Given the description of an element on the screen output the (x, y) to click on. 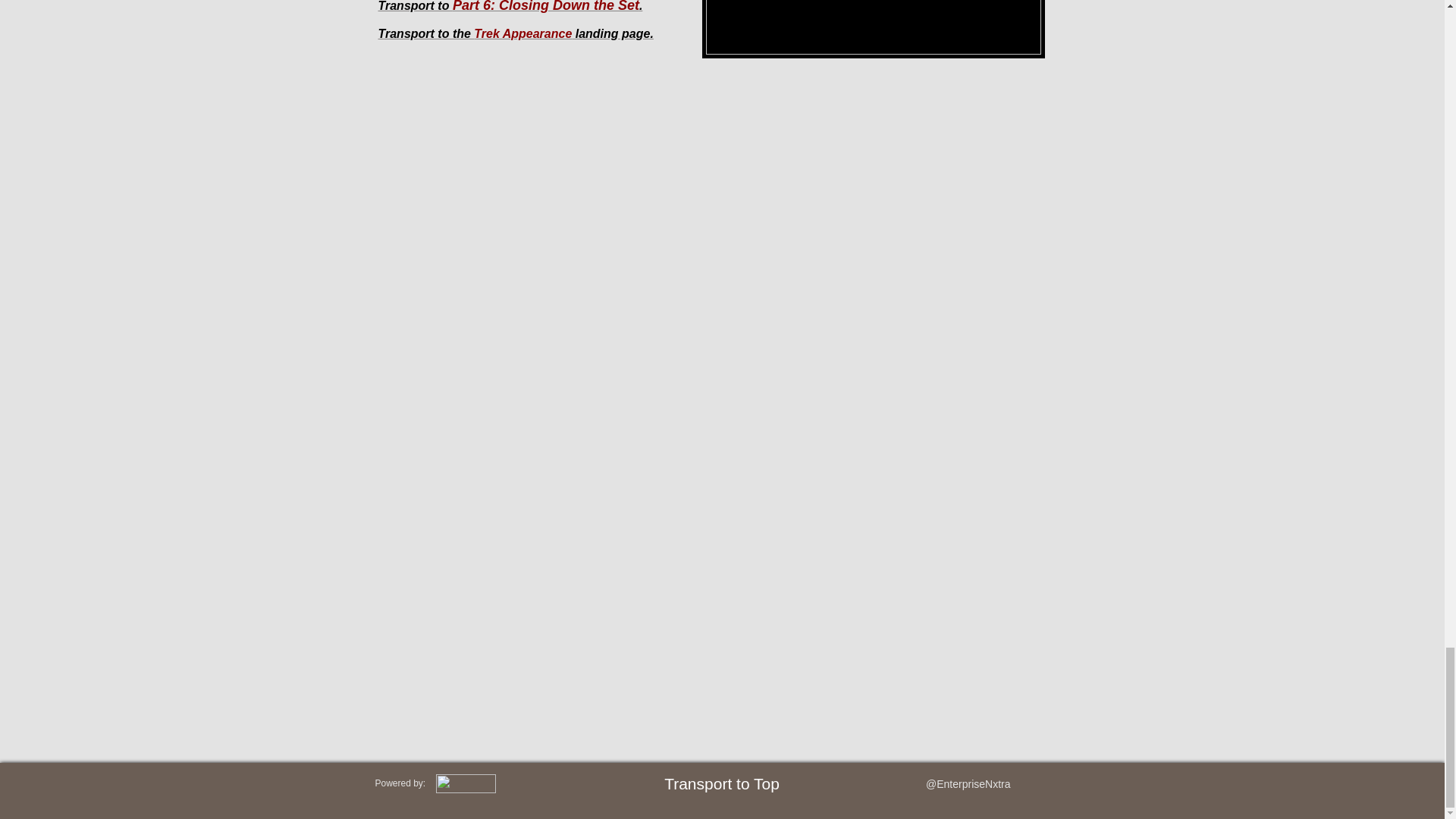
Transport to Part 6: Closing Down the Set. (509, 6)
Blurry shot of me doing my Kirk impersonation. (873, 29)
Transport to the Trek Appearance landing page. (514, 33)
Transport to Top (720, 783)
